Given the description of an element on the screen output the (x, y) to click on. 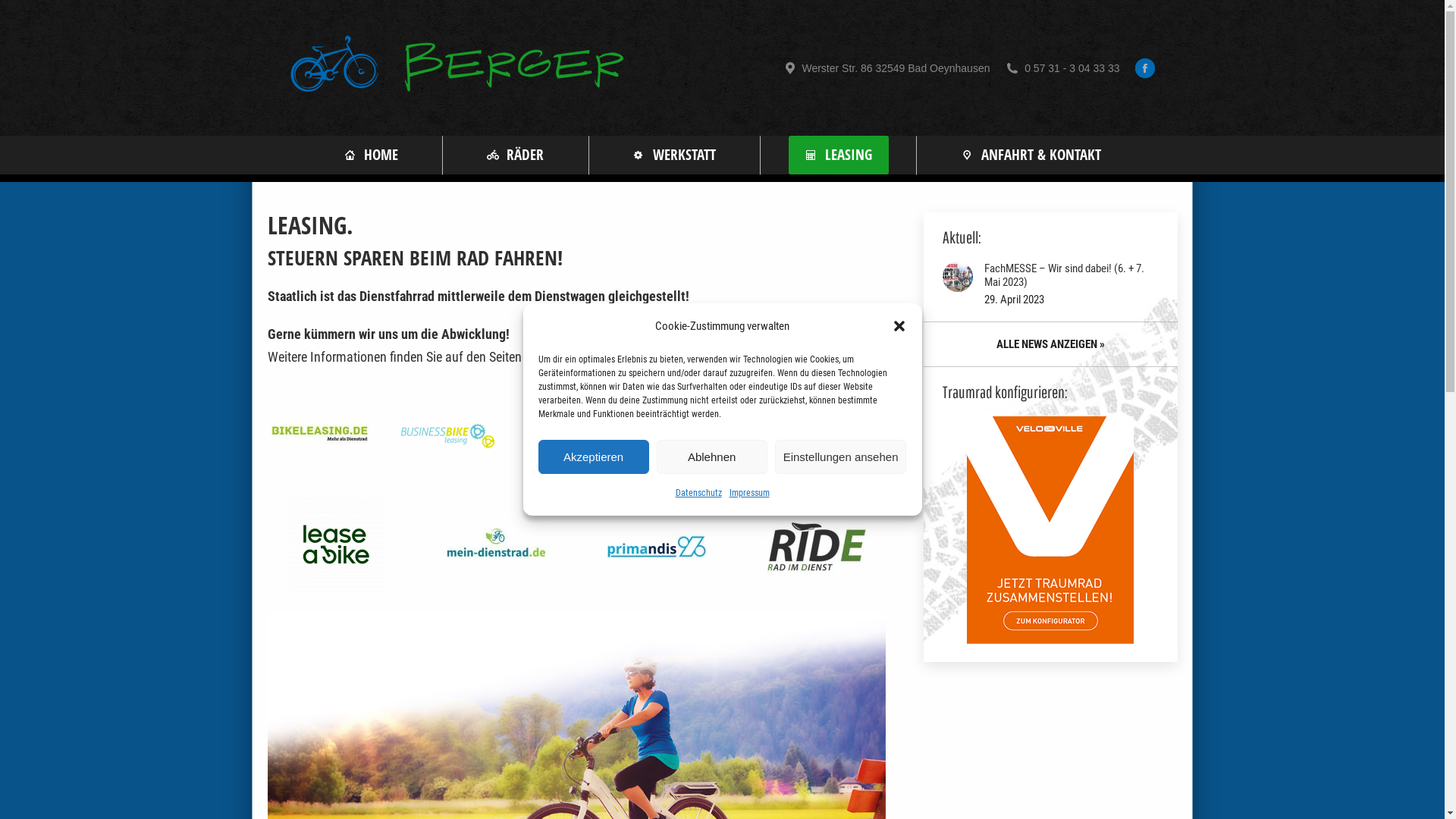
Logo_mobile Element type: hover (447, 432)
info@2radberger.de Element type: text (365, 785)
primandis Element type: hover (656, 546)
Werster Str. 86 32549 Bad Oeynhausen Element type: text (886, 67)
ANFAHRT & KONTAKT Element type: text (1030, 154)
mein-dienstrad Element type: hover (495, 546)
Facebook page opens in new window Element type: text (1144, 67)
WERKSTATT Element type: text (674, 154)
Datenschutz Element type: text (697, 492)
deutsche-dienstrad Element type: hover (576, 432)
Akzeptieren Element type: text (593, 456)
Ablehnen Element type: text (711, 456)
eurorad Element type: hover (704, 432)
rad-im-dienst Element type: hover (816, 546)
HOME Element type: text (370, 154)
LEASING Element type: text (838, 154)
bikeleasing Element type: hover (319, 432)
Einstellungen ansehen Element type: text (840, 456)
leaseabike_logo_rgb Element type: hover (335, 546)
0 57 31 - 3 04 33 33 Element type: text (1061, 67)
jobrad Element type: hover (832, 432)
Impressum Element type: text (749, 492)
